Given the description of an element on the screen output the (x, y) to click on. 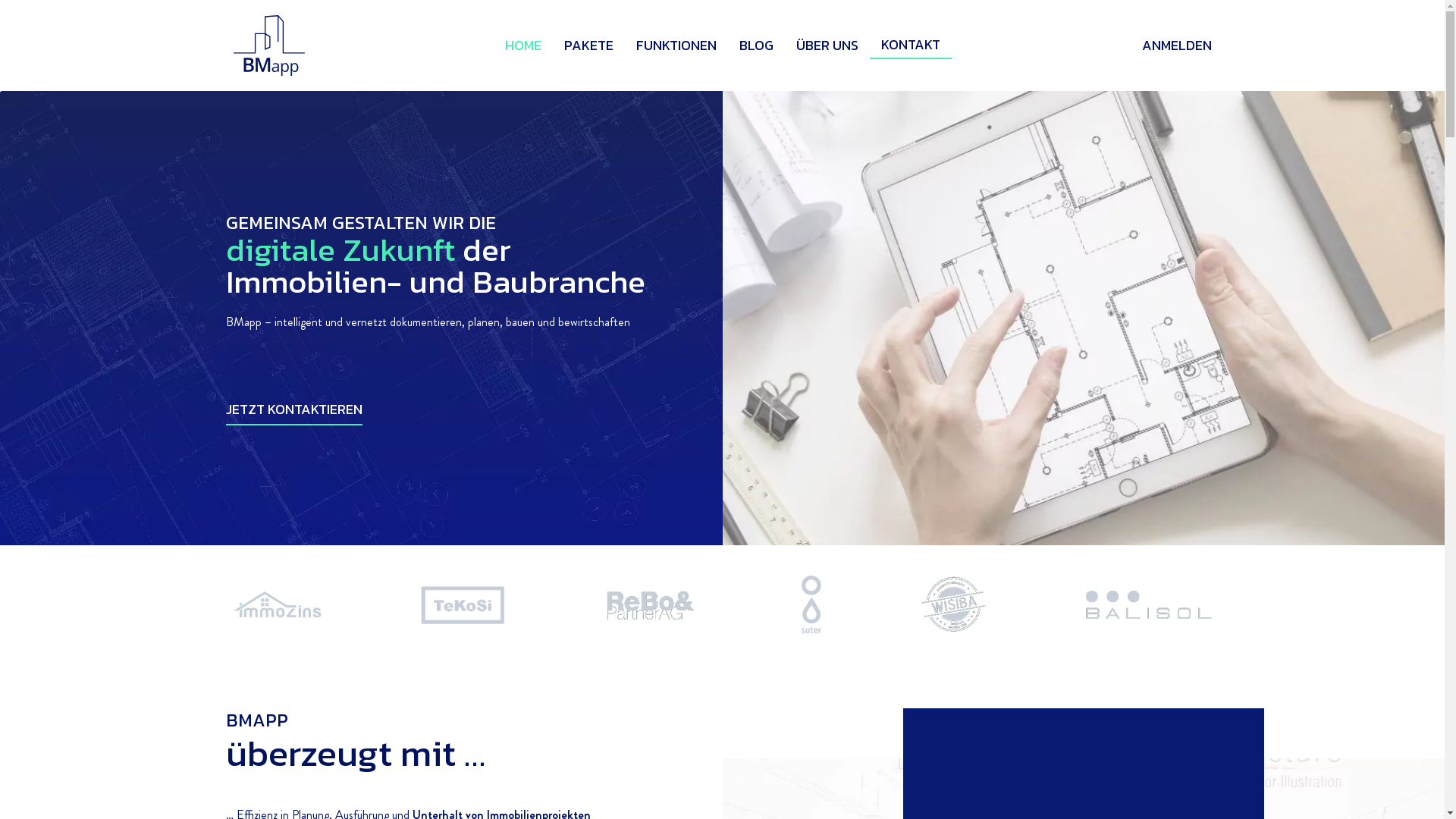
FUNKTIONEN Element type: text (676, 45)
KONTAKT Element type: text (909, 45)
JETZT KONTAKTIEREN Element type: text (293, 410)
BLOG Element type: text (756, 45)
Zum Inhalt springen Element type: text (15, 7)
HOME Element type: text (522, 45)
PAKETE Element type: text (588, 45)
ANMELDEN Element type: text (1176, 45)
